Given the description of an element on the screen output the (x, y) to click on. 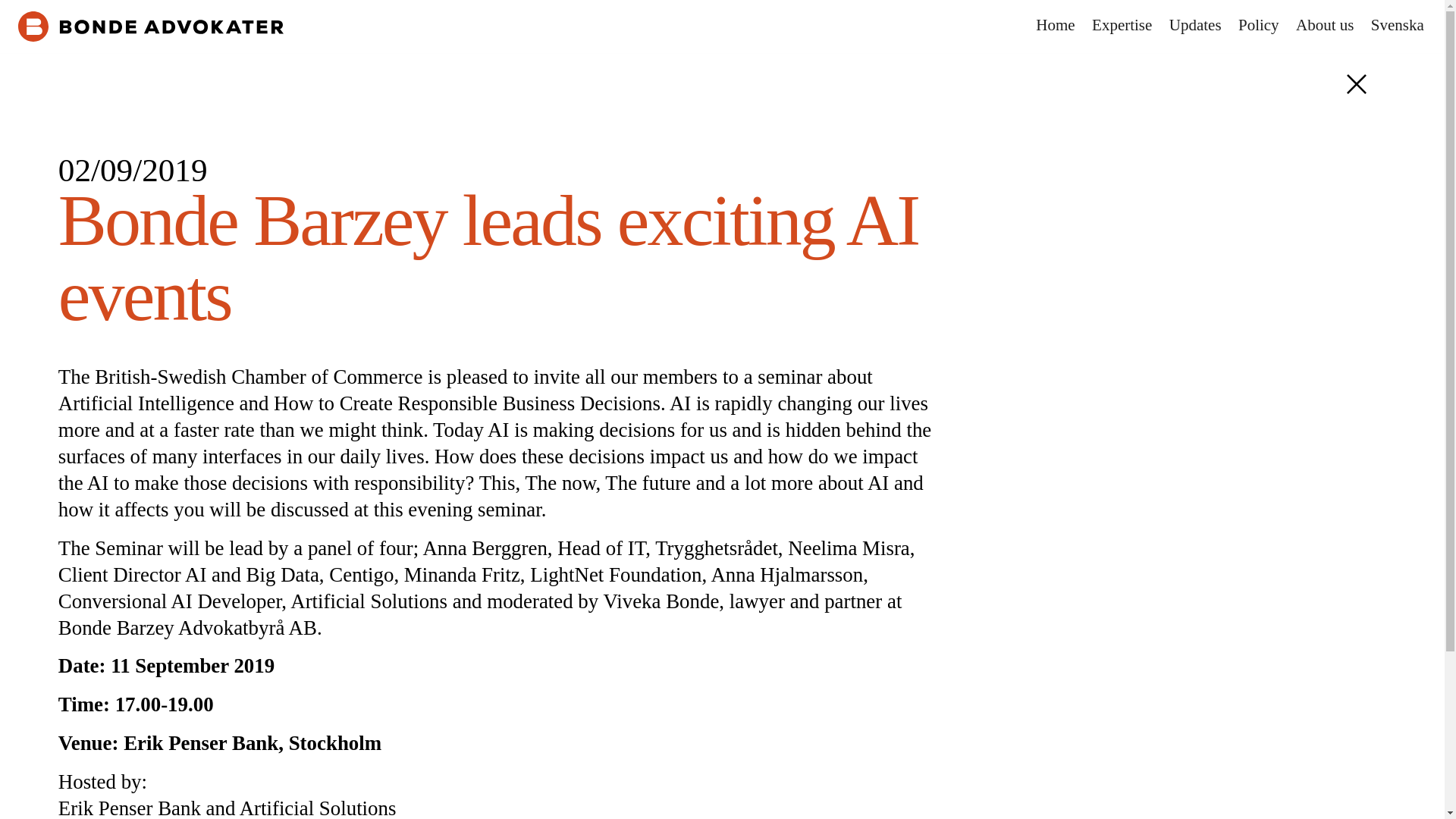
Policy (1257, 26)
Updates (1194, 26)
Expertise (1121, 26)
About us (1324, 26)
Back (1356, 84)
Svenska (1397, 26)
Home (1056, 26)
